Given the description of an element on the screen output the (x, y) to click on. 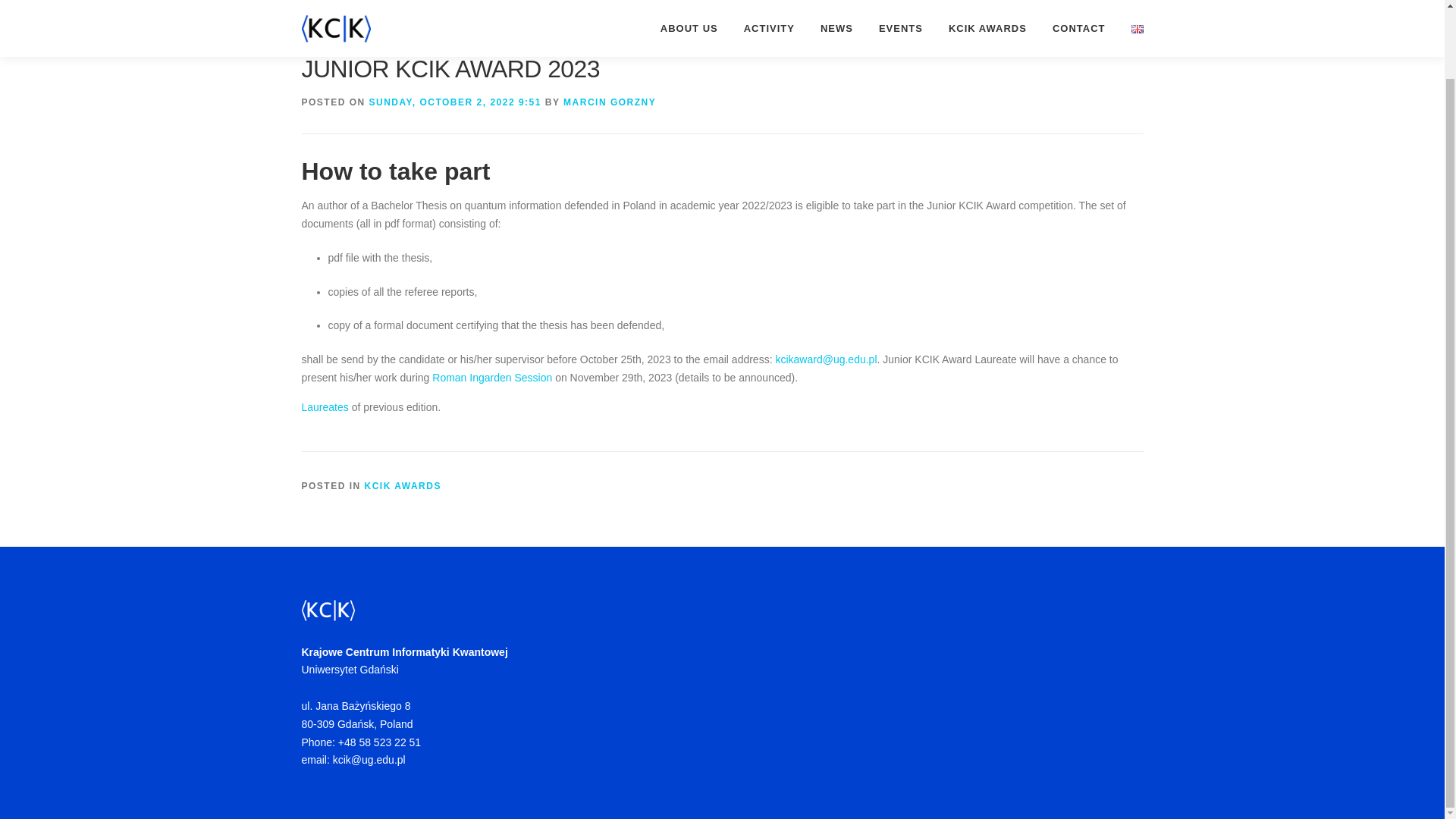
Blog (346, 2)
KCIK AWARDS (403, 485)
MARCIN GORZNY (609, 102)
Home (313, 2)
Laureates (325, 407)
Roman Ingarden Session (491, 377)
SUNDAY, OCTOBER 2, 2022 9:51 (455, 102)
